Given the description of an element on the screen output the (x, y) to click on. 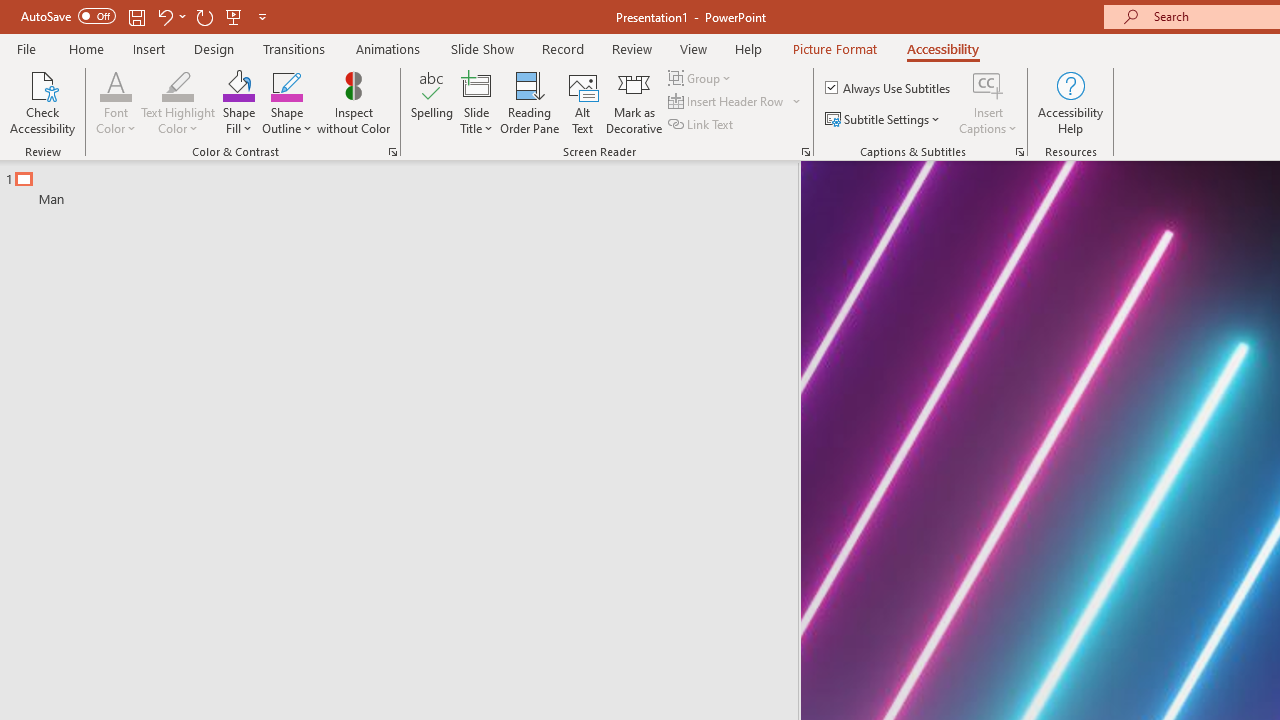
File Tab (26, 48)
Insert Captions (988, 84)
Customize Quick Access Toolbar (262, 15)
Check Accessibility (42, 102)
Shape Outline (286, 102)
Color & Contrast (392, 151)
Home (86, 48)
Accessibility Help (1070, 102)
Insert Header Row (735, 101)
Group (701, 78)
Screen Reader (805, 151)
Text Highlight Color (178, 102)
Subtitle Settings (884, 119)
Captions & Subtitles (1019, 151)
